Given the description of an element on the screen output the (x, y) to click on. 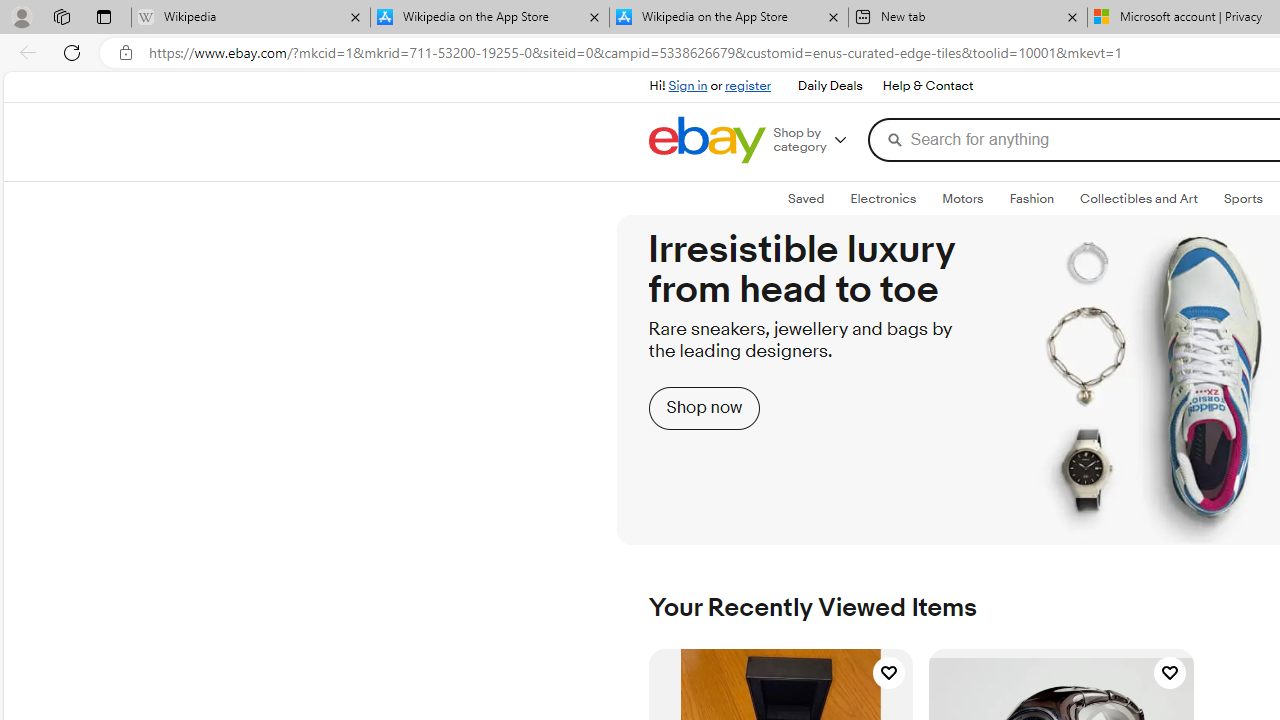
Daily Deals (829, 86)
Motors (963, 198)
eBay Home (706, 139)
Collectibles and Art (1139, 198)
Saved (806, 199)
FashionExpand: Fashion (1031, 199)
Daily Deals (829, 85)
ElectronicsExpand: Electronics (883, 199)
